Given the description of an element on the screen output the (x, y) to click on. 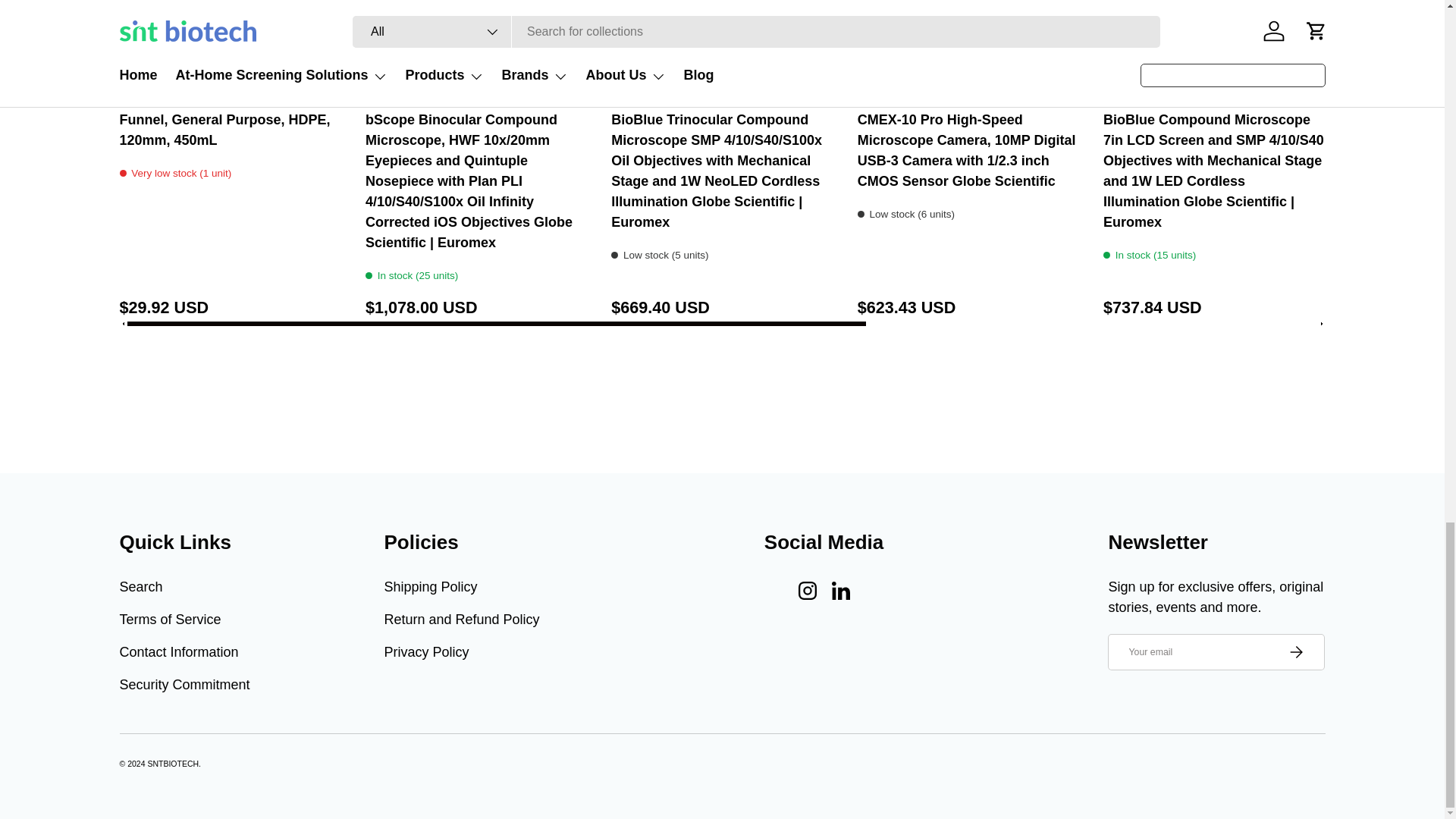
SNTBIOTECH on Instagram (807, 590)
SNTBIOTECH on LinkedIn (840, 590)
